Given the description of an element on the screen output the (x, y) to click on. 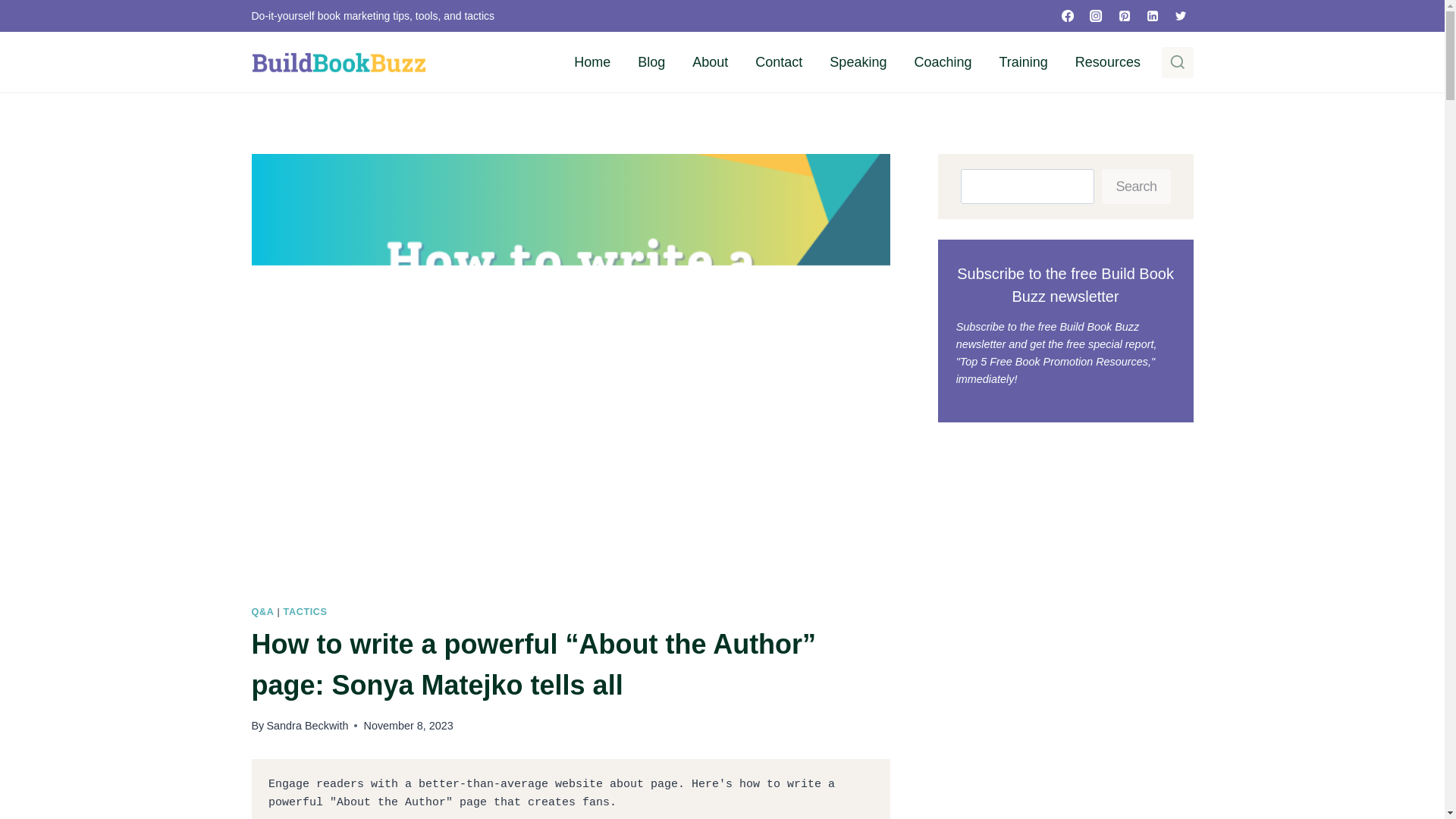
Coaching (942, 62)
Blog (651, 62)
Speaking (857, 62)
Sandra Beckwith (306, 725)
TACTICS (305, 611)
Home (592, 62)
Contact (778, 62)
About (709, 62)
Training (1023, 62)
Resources (1107, 62)
